Given the description of an element on the screen output the (x, y) to click on. 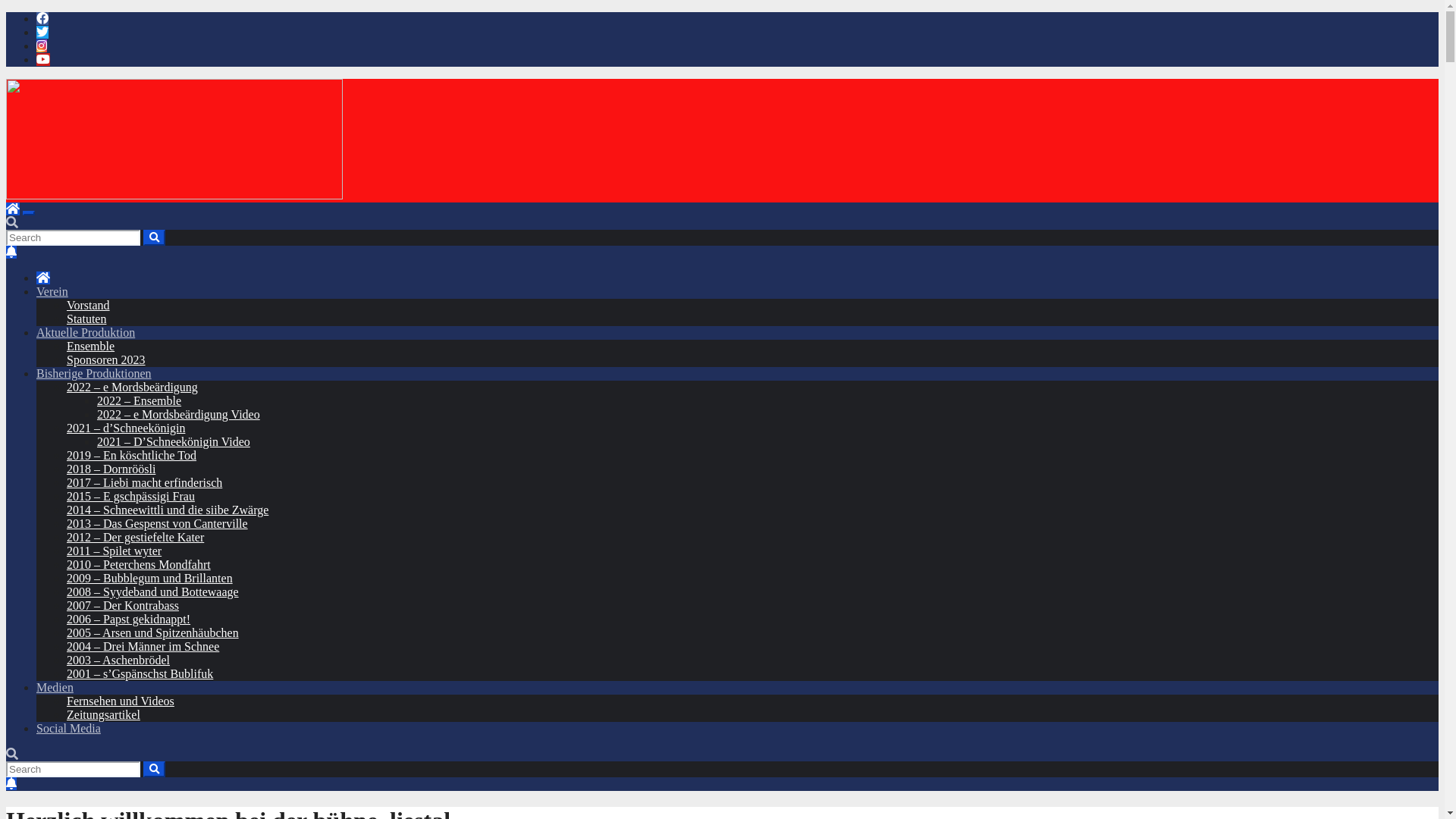
Zeitungsartikel Element type: text (103, 714)
Aktuelle Produktion Element type: text (85, 332)
Sponsoren 2023 Element type: text (105, 359)
Skip to content Element type: text (5, 11)
Statuten Element type: text (86, 318)
Ensemble Element type: text (90, 345)
Bisherige Produktionen Element type: text (93, 373)
Medien Element type: text (54, 686)
Vorstand Element type: text (87, 304)
Verein Element type: text (52, 291)
Fernsehen und Videos Element type: text (120, 700)
Social Media Element type: text (68, 727)
